Given the description of an element on the screen output the (x, y) to click on. 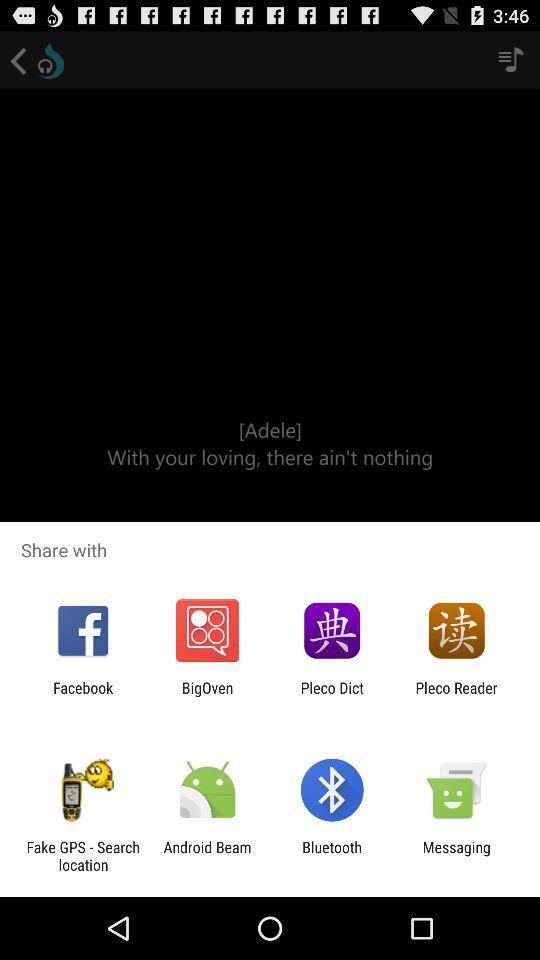
turn on bluetooth app (331, 856)
